Given the description of an element on the screen output the (x, y) to click on. 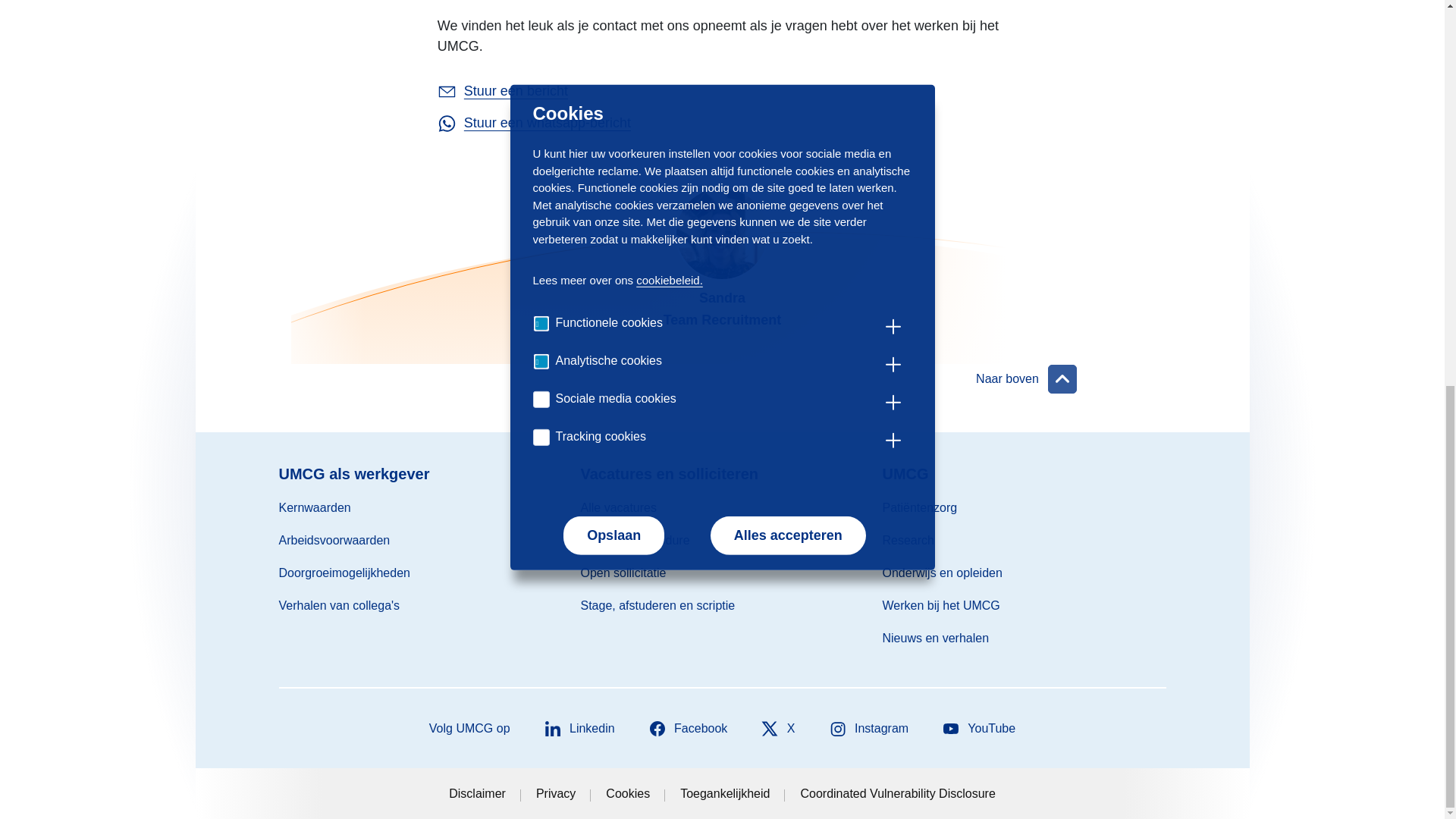
arrow (1062, 378)
Stage, afstuderen en scriptie (657, 604)
X (777, 728)
Linkedin (578, 728)
Stuur een bericht (515, 90)
Doorgroeimogelijkheden (344, 572)
Stuur een whatsapp-bericht (547, 122)
Verhalen van collega's (339, 604)
Open sollicitatie (623, 572)
Alle vacatures (619, 507)
